Given the description of an element on the screen output the (x, y) to click on. 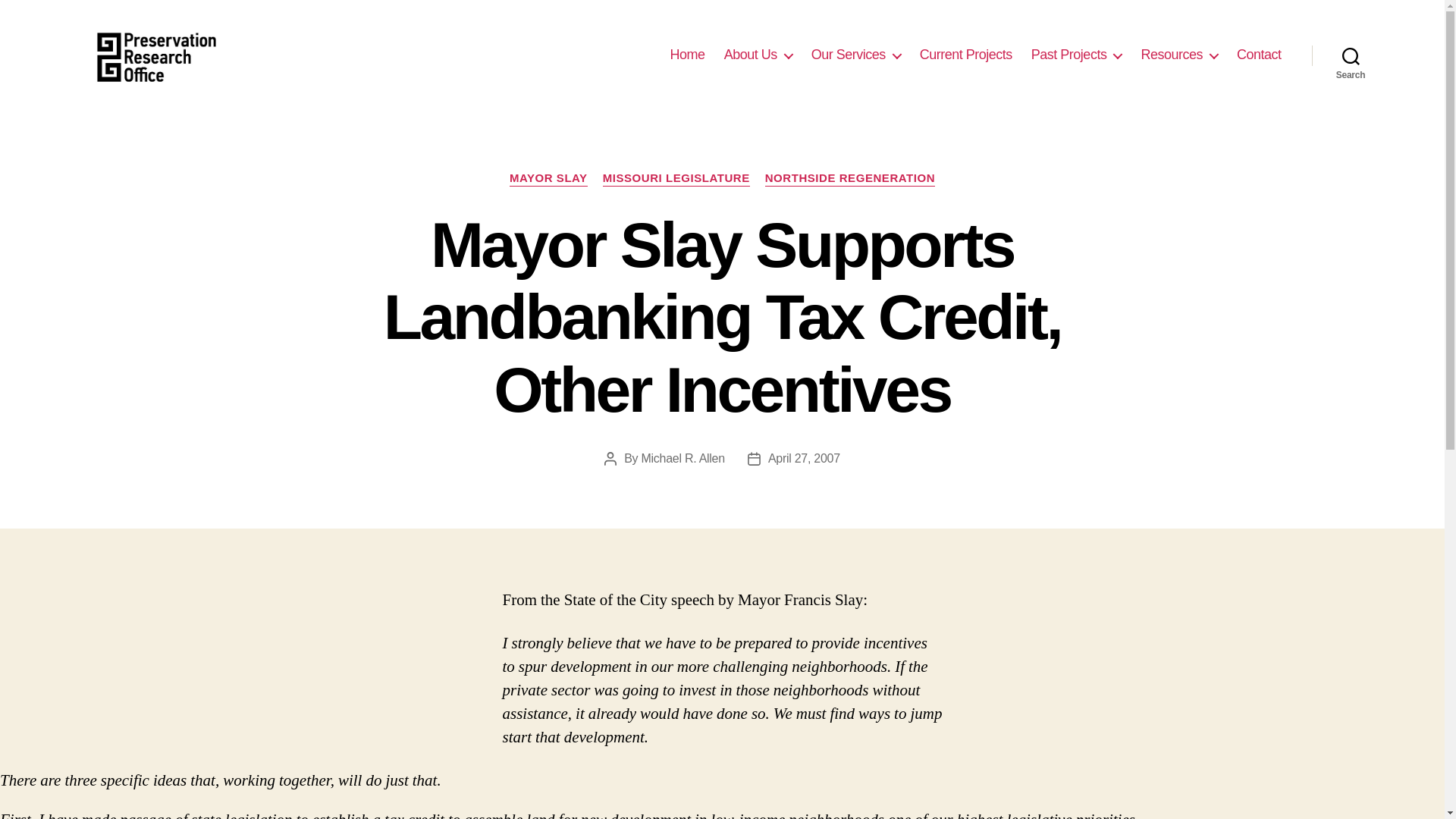
Home (686, 54)
About Us (757, 54)
Search (1350, 55)
Current Projects (965, 54)
Our Services (855, 54)
Resources (1178, 54)
Contact (1258, 54)
Past Projects (1076, 54)
